Given the description of an element on the screen output the (x, y) to click on. 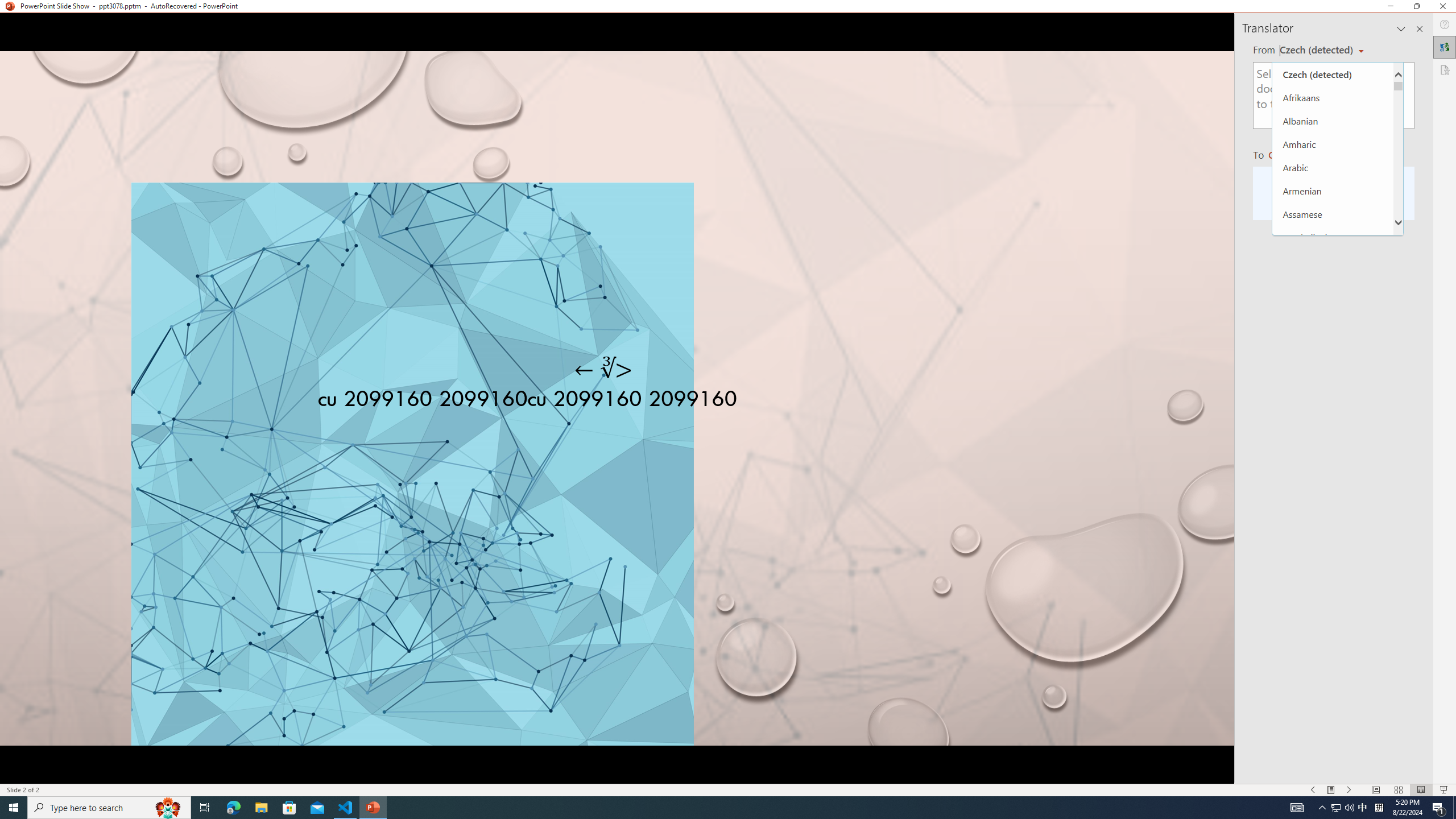
Bodo (1332, 354)
Basque (1332, 307)
Bulgarian (1332, 400)
Armenian (1332, 190)
Arabic (1332, 167)
Estonian (1332, 749)
Bhojpuri (1332, 330)
Bashkir (1332, 283)
Danish (1332, 609)
Bosnian (1332, 377)
Divehi (1332, 656)
